Given the description of an element on the screen output the (x, y) to click on. 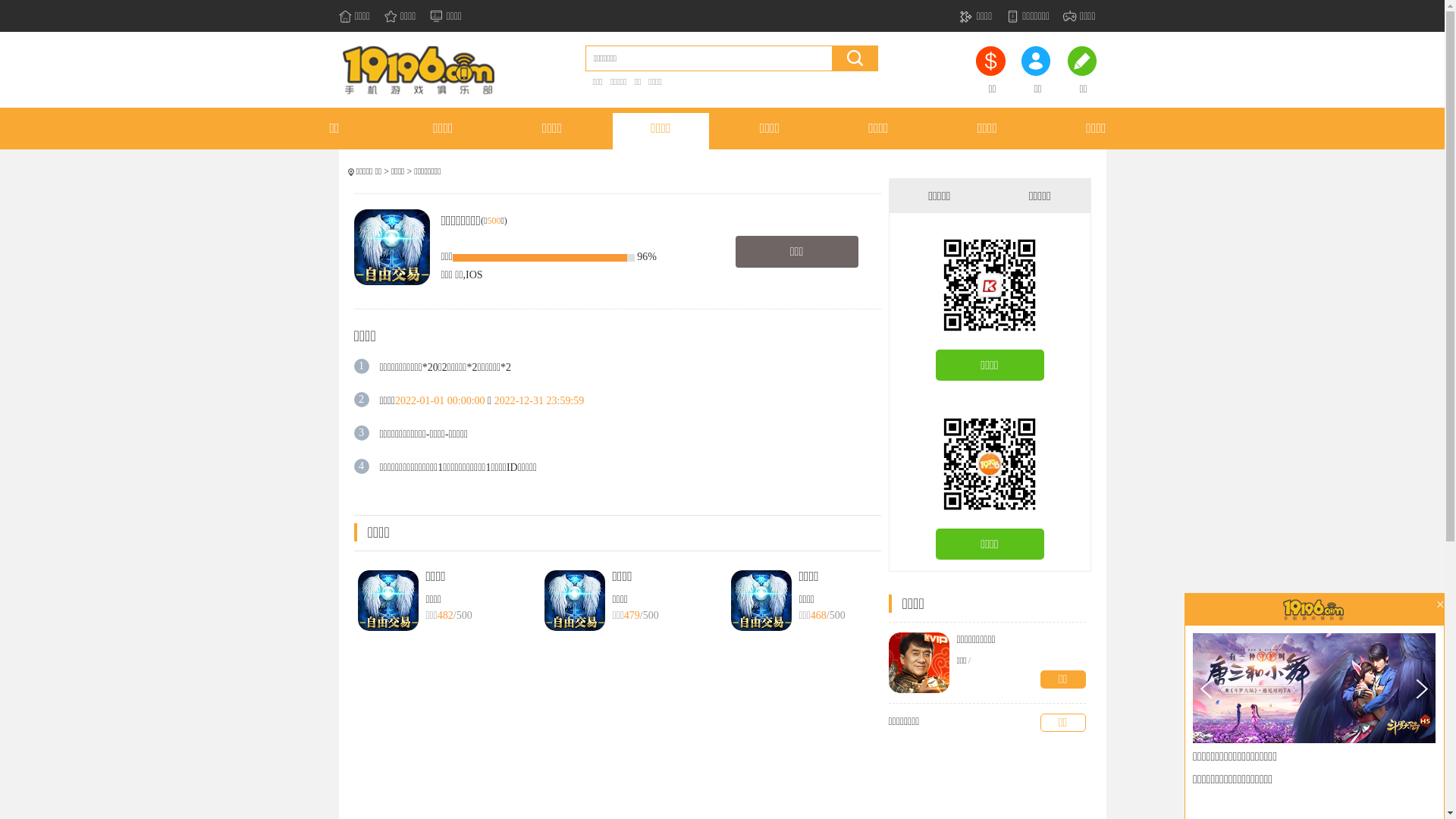
< Element type: text (1205, 688)
> Element type: text (1421, 688)
